Given the description of an element on the screen output the (x, y) to click on. 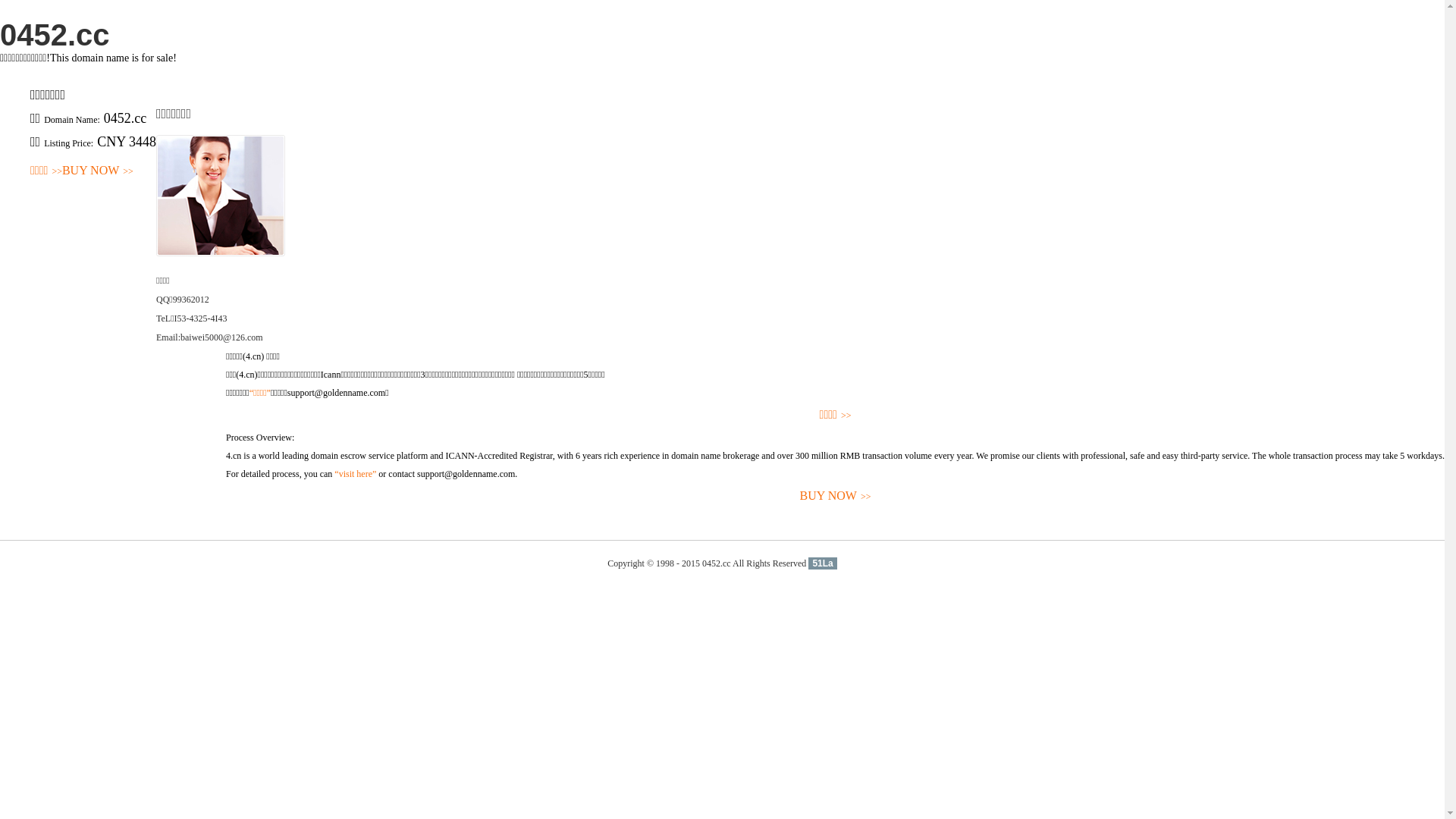
BUY NOW>> Element type: text (97, 170)
BUY NOW>> Element type: text (834, 496)
51La Element type: text (822, 563)
